Given the description of an element on the screen output the (x, y) to click on. 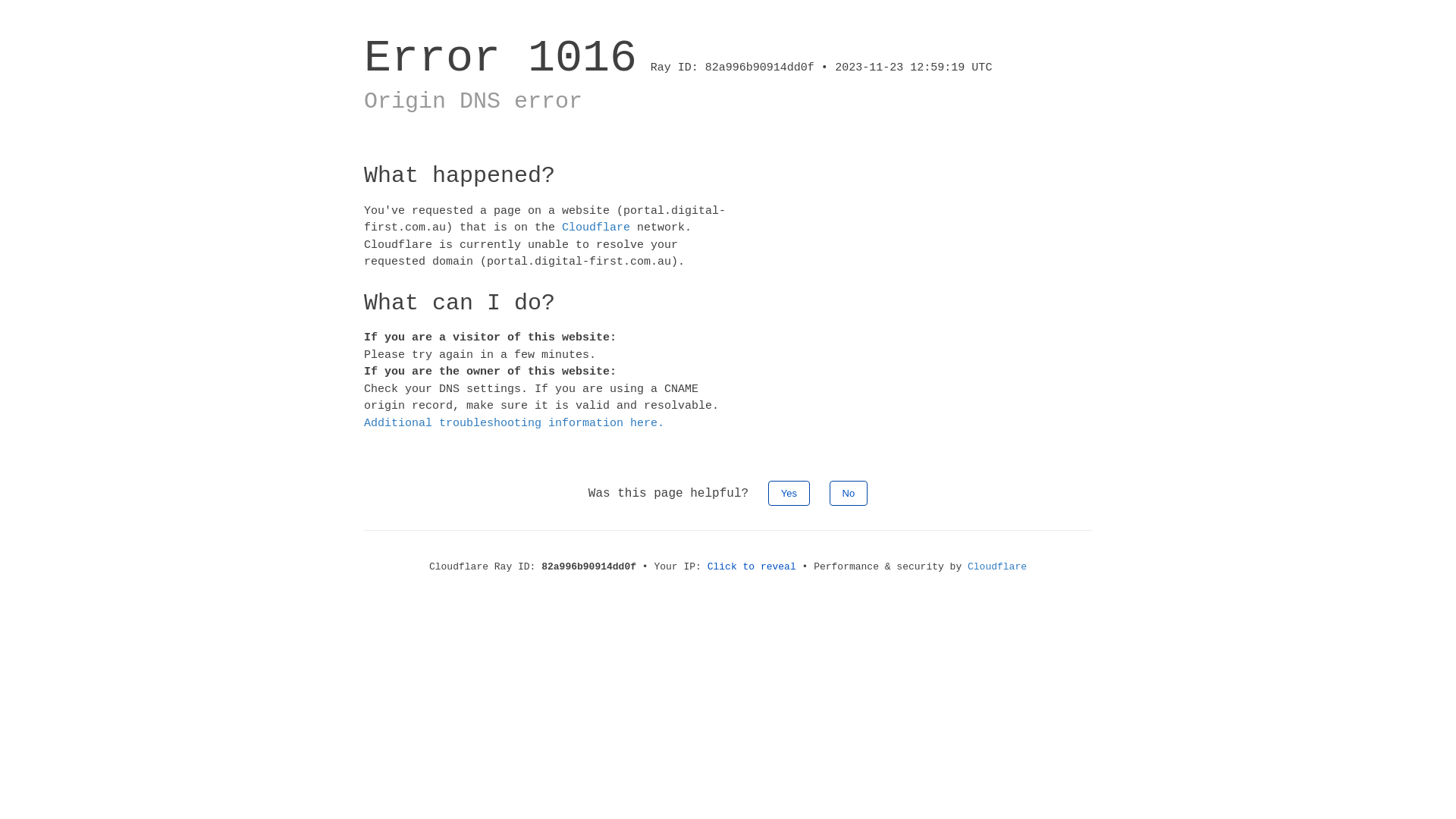
Click to reveal Element type: text (751, 566)
Yes Element type: text (788, 492)
Cloudflare Element type: text (996, 566)
No Element type: text (848, 492)
Cloudflare Element type: text (595, 227)
Additional troubleshooting information here. Element type: text (514, 423)
